Given the description of an element on the screen output the (x, y) to click on. 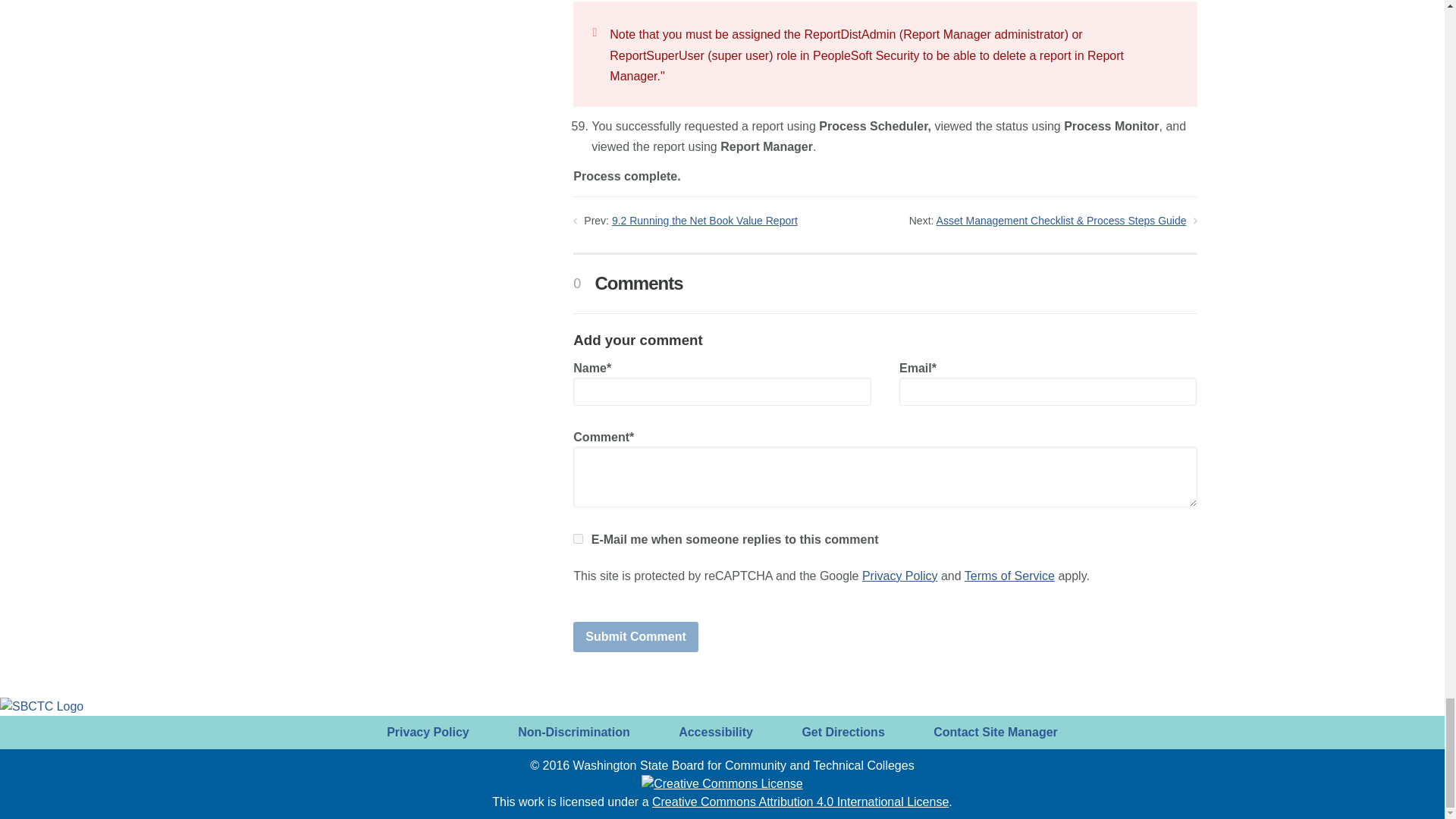
1 (578, 538)
Submit Comment (635, 636)
9.2 Running the Net Book Value Report (704, 220)
Privacy Policy (899, 575)
Terms of Service (1008, 575)
Submit Comment (635, 636)
